Given the description of an element on the screen output the (x, y) to click on. 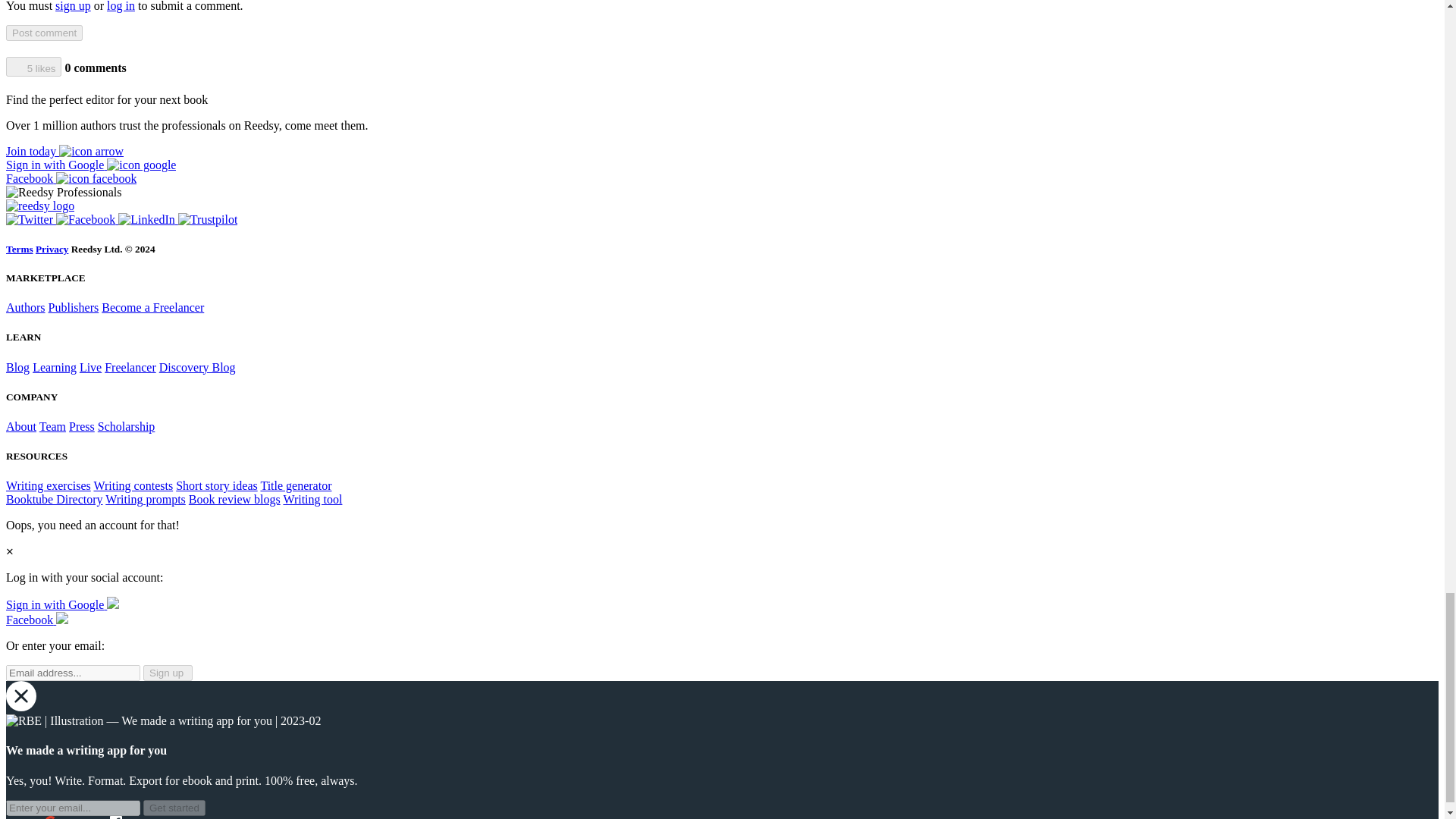
Sign up (64, 151)
Sign in with Google (90, 164)
Post comment (43, 32)
Twitter (30, 219)
LinkedIn (147, 219)
Sign up  (167, 672)
Trustpilot (207, 219)
Sign in with Facebook (70, 178)
Facebook (86, 219)
Get started (173, 807)
